Given the description of an element on the screen output the (x, y) to click on. 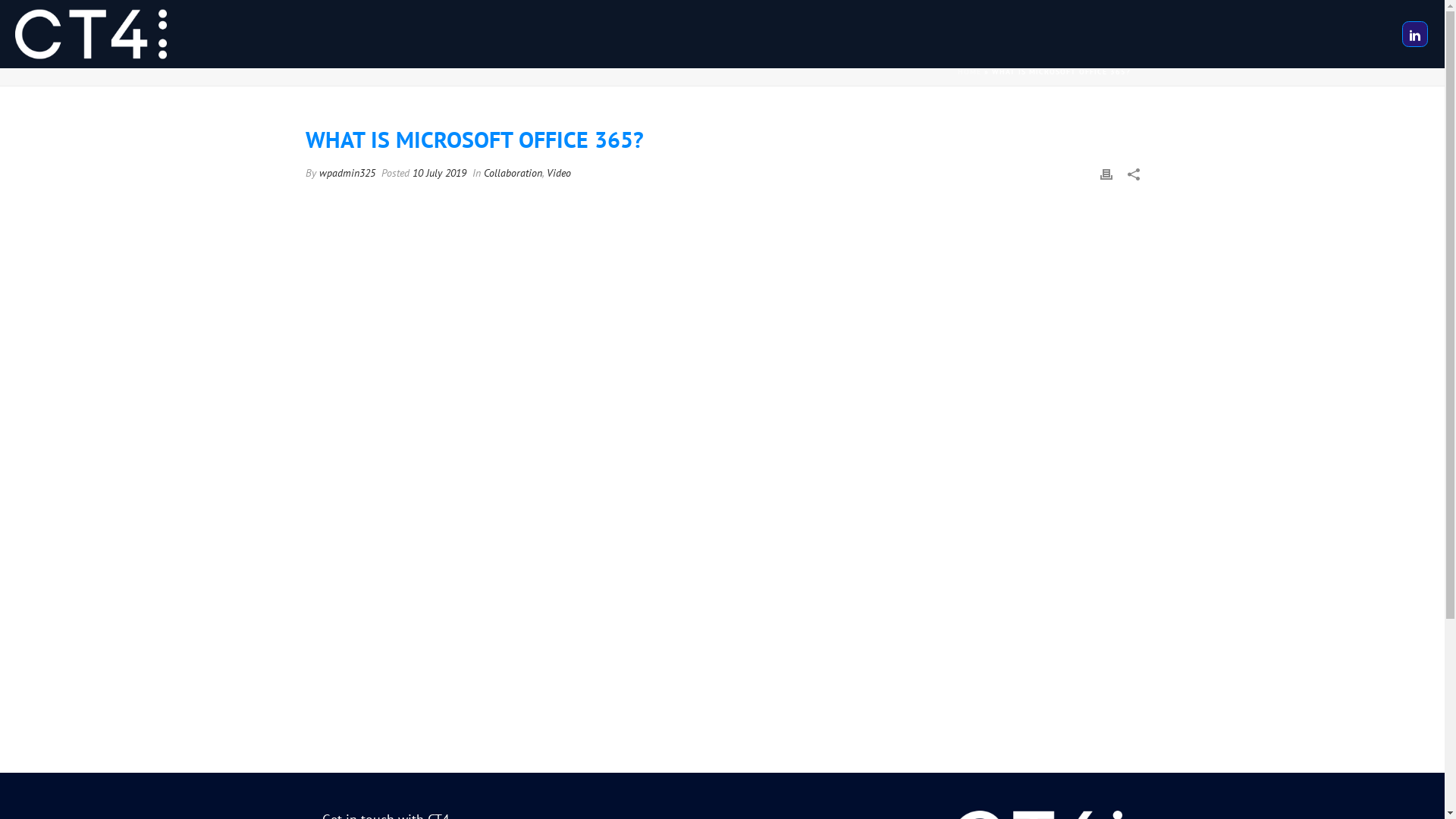
Collaboration Element type: text (512, 172)
wpadmin325 Element type: text (346, 172)
10 July 2019 Element type: text (439, 172)
Video Element type: text (558, 172)
HOME Element type: text (968, 71)
Print Element type: hover (1105, 173)
